Given the description of an element on the screen output the (x, y) to click on. 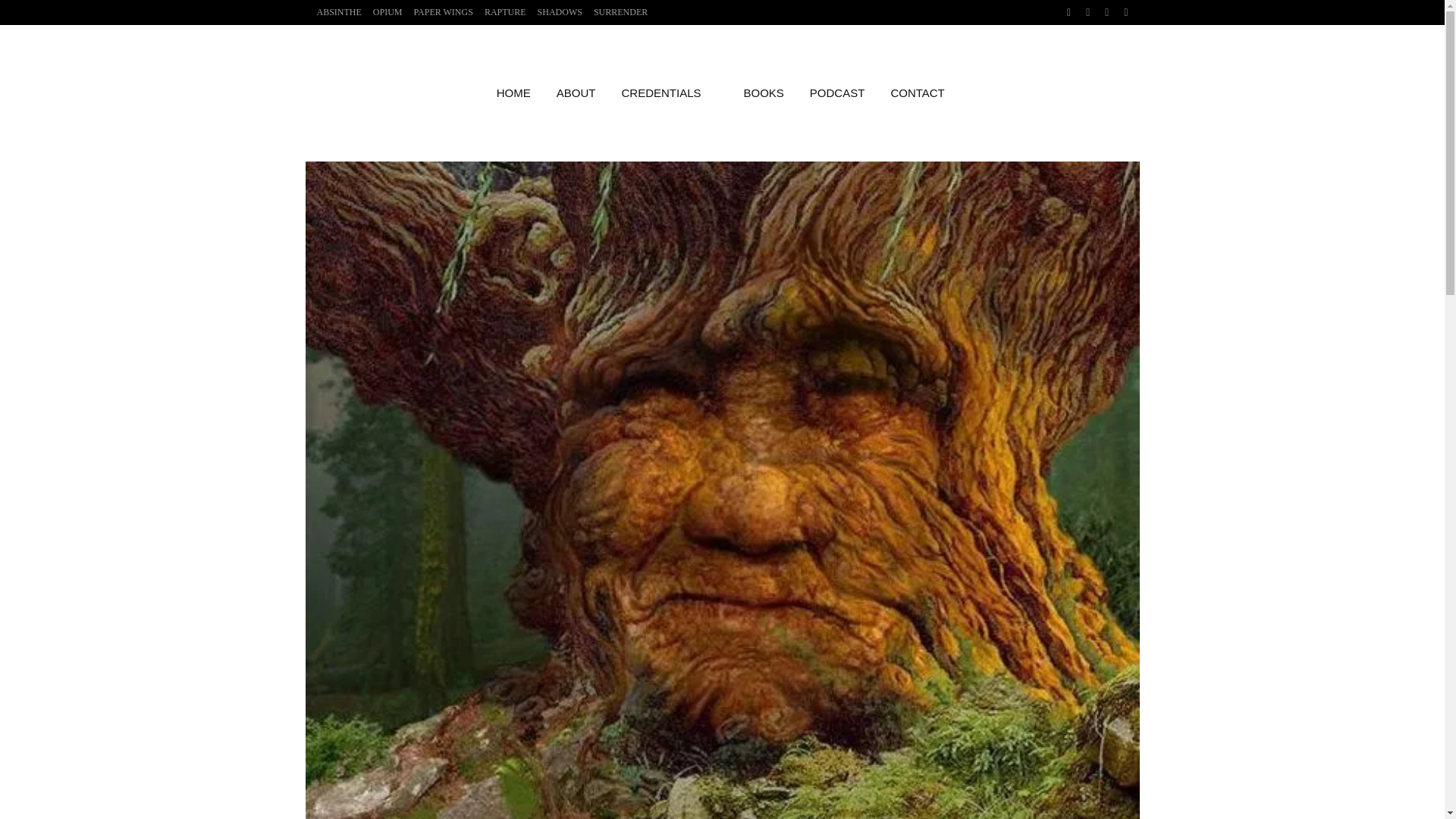
SHADOWS (553, 12)
PAPER WINGS (438, 12)
SURRENDER (614, 12)
OPIUM (382, 12)
ABSINTHE (332, 12)
RAPTURE (499, 12)
